Given the description of an element on the screen output the (x, y) to click on. 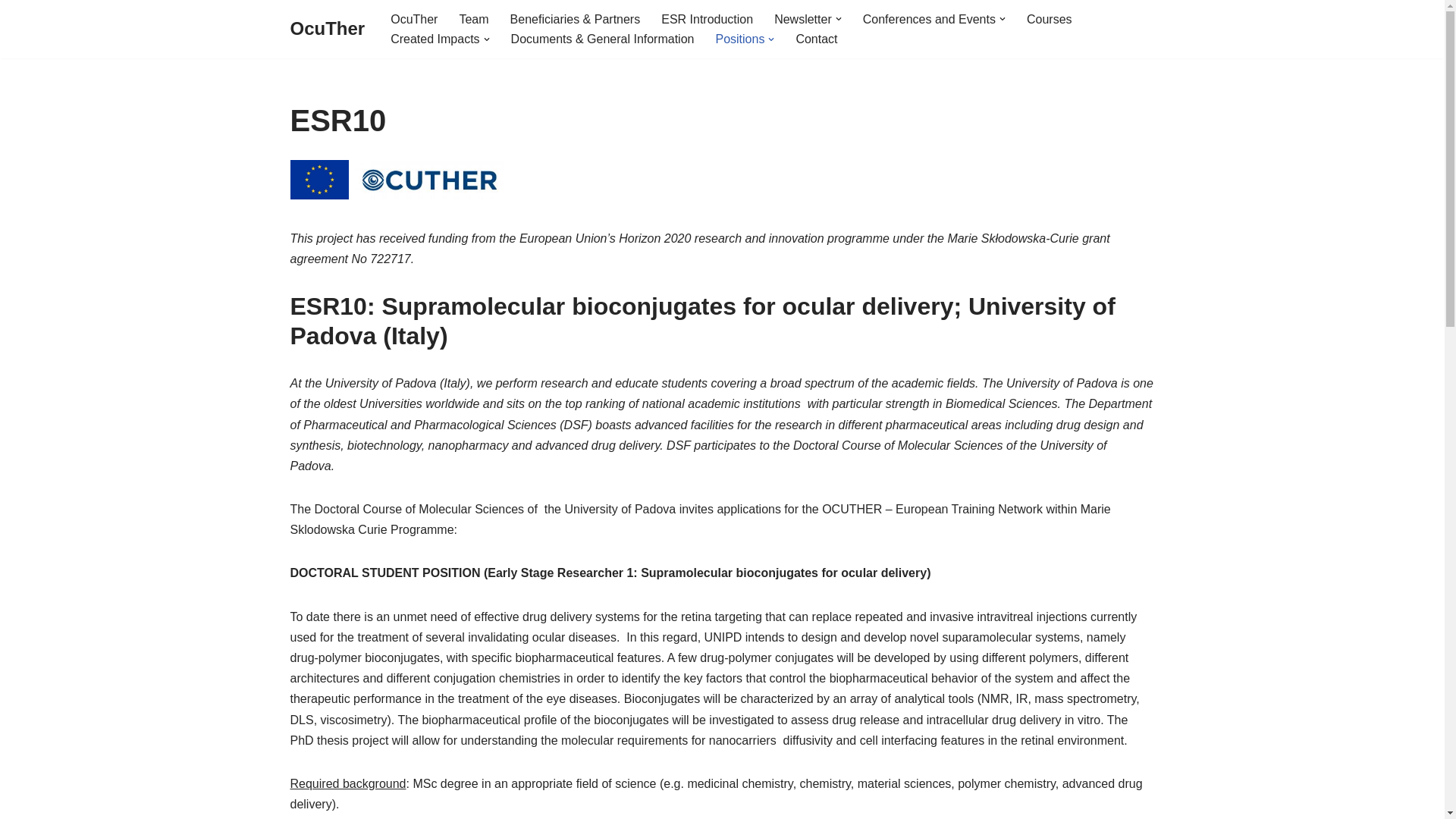
Team (472, 19)
Conferences and Events (929, 19)
Created Impacts (434, 38)
Courses (1048, 19)
Contact (815, 38)
Skip to content (11, 31)
OcuTher (414, 19)
Positions (739, 38)
Newsletter (802, 19)
OcuTher (327, 29)
ESR Introduction (706, 19)
